Given the description of an element on the screen output the (x, y) to click on. 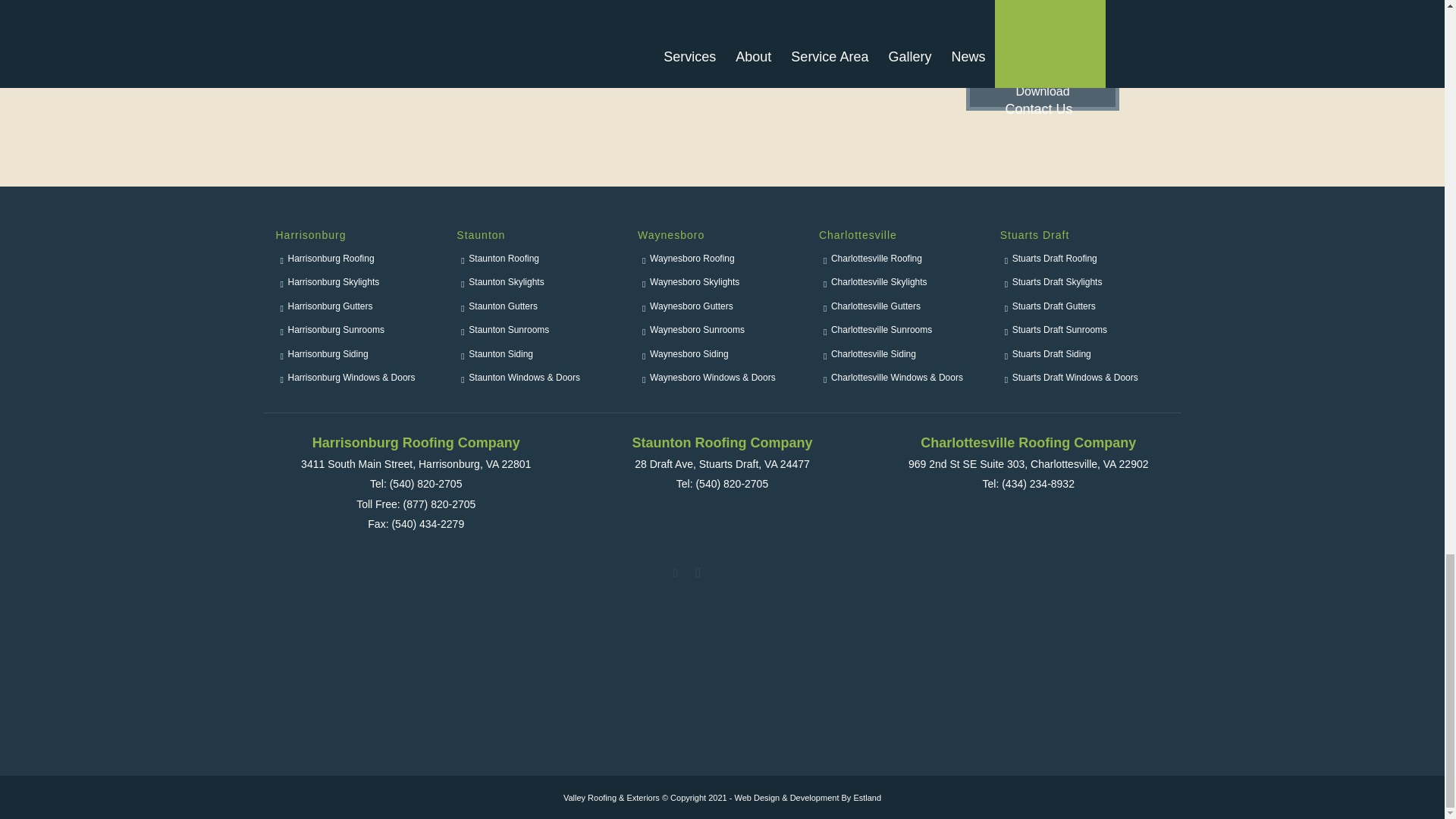
Download (1042, 91)
